Given the description of an element on the screen output the (x, y) to click on. 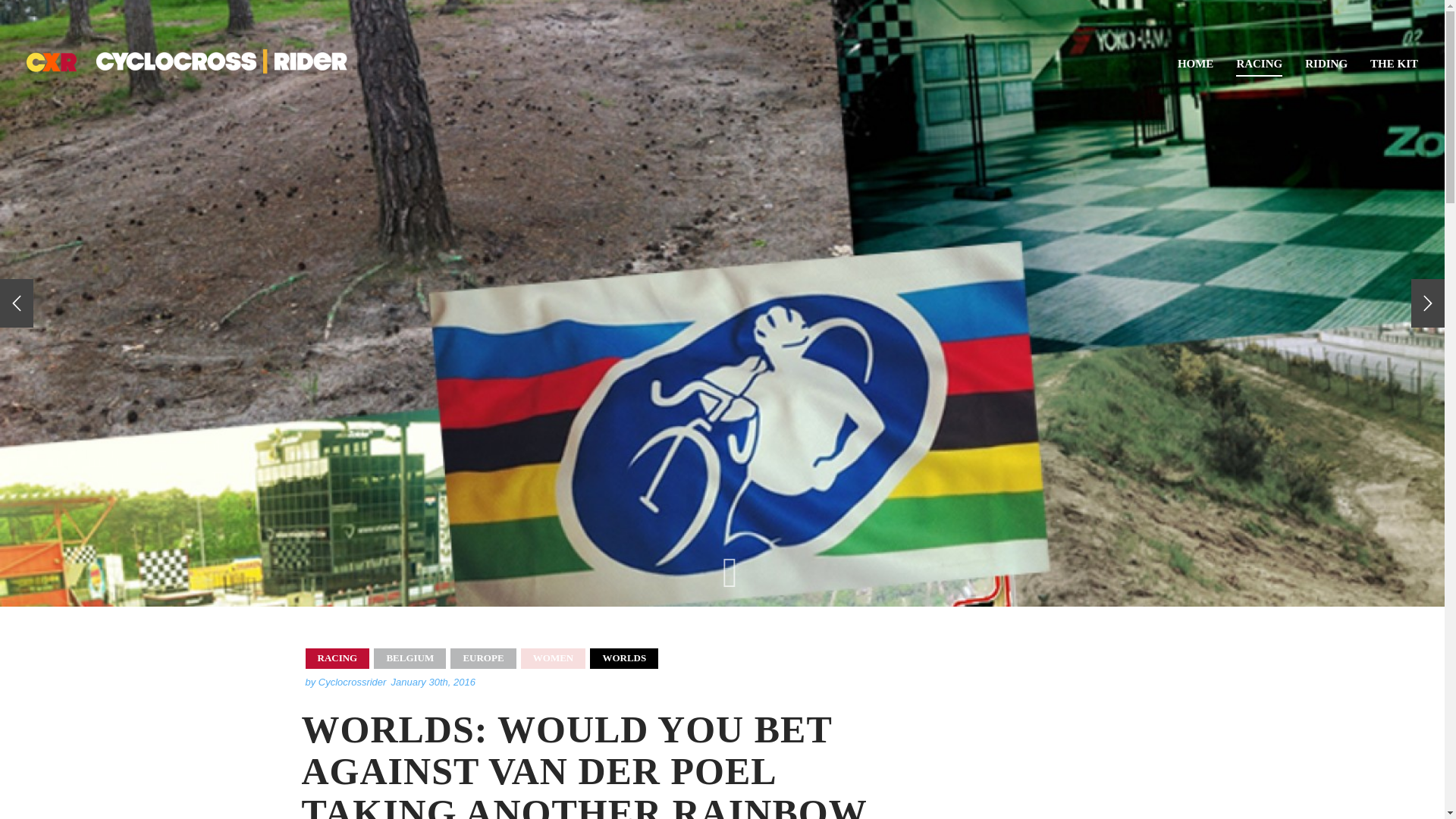
RIDING (1326, 60)
THE KIT (1394, 60)
WOMEN (553, 658)
BELGIUM (409, 658)
by Cyclocrossrider (344, 682)
RACING (336, 658)
WORLDS (623, 658)
Go to Riding (1326, 60)
Go to Racing (1259, 60)
EUROPE (482, 658)
HOME (1195, 60)
RACING (1259, 60)
January 30th, 2016 (433, 682)
Go to The Kit (1394, 60)
